Given the description of an element on the screen output the (x, y) to click on. 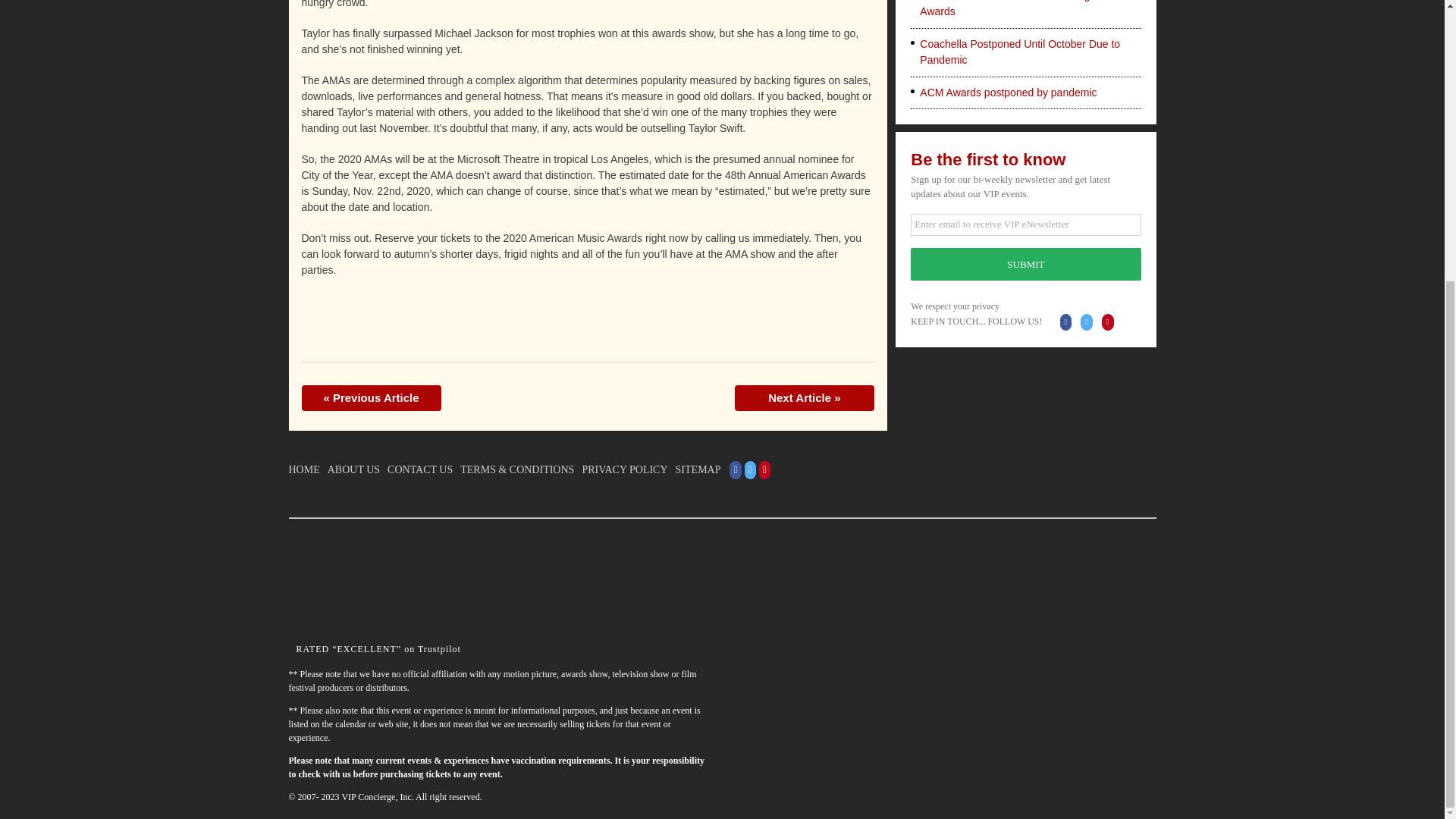
Submit (1025, 263)
